Given the description of an element on the screen output the (x, y) to click on. 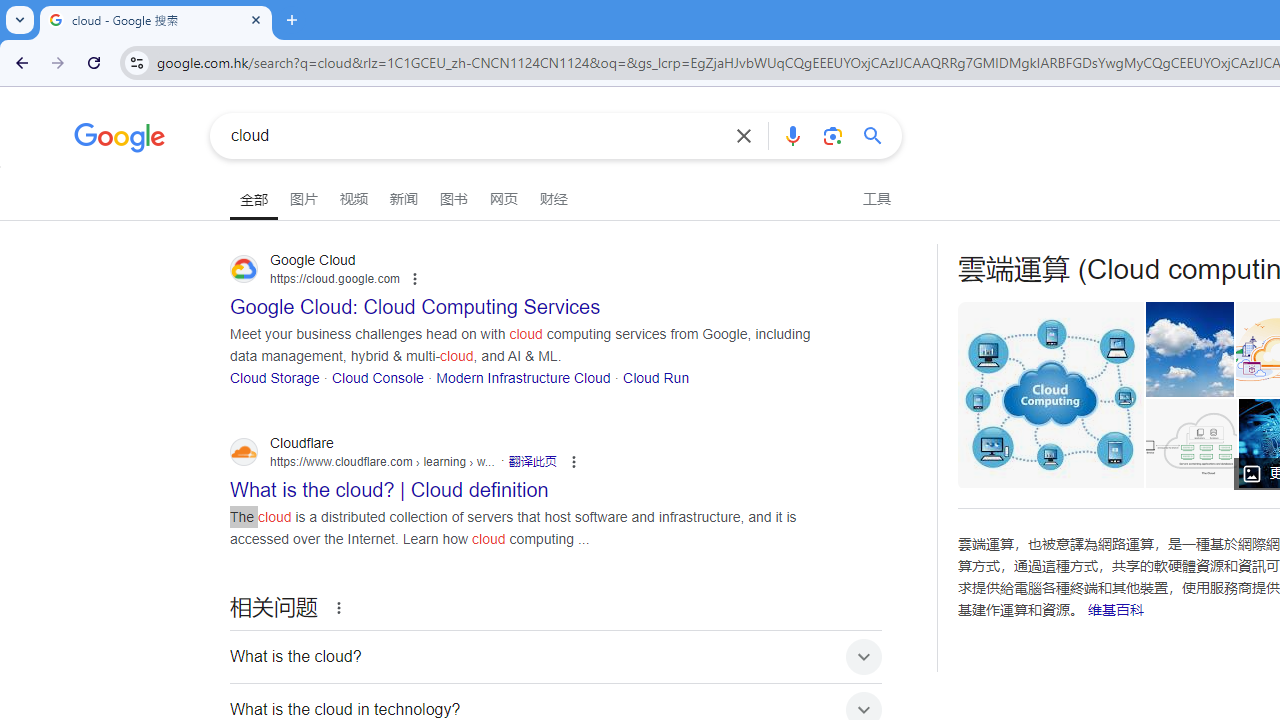
Cloud Storage (275, 376)
Modern Infrastructure Cloud (523, 376)
